Given the description of an element on the screen output the (x, y) to click on. 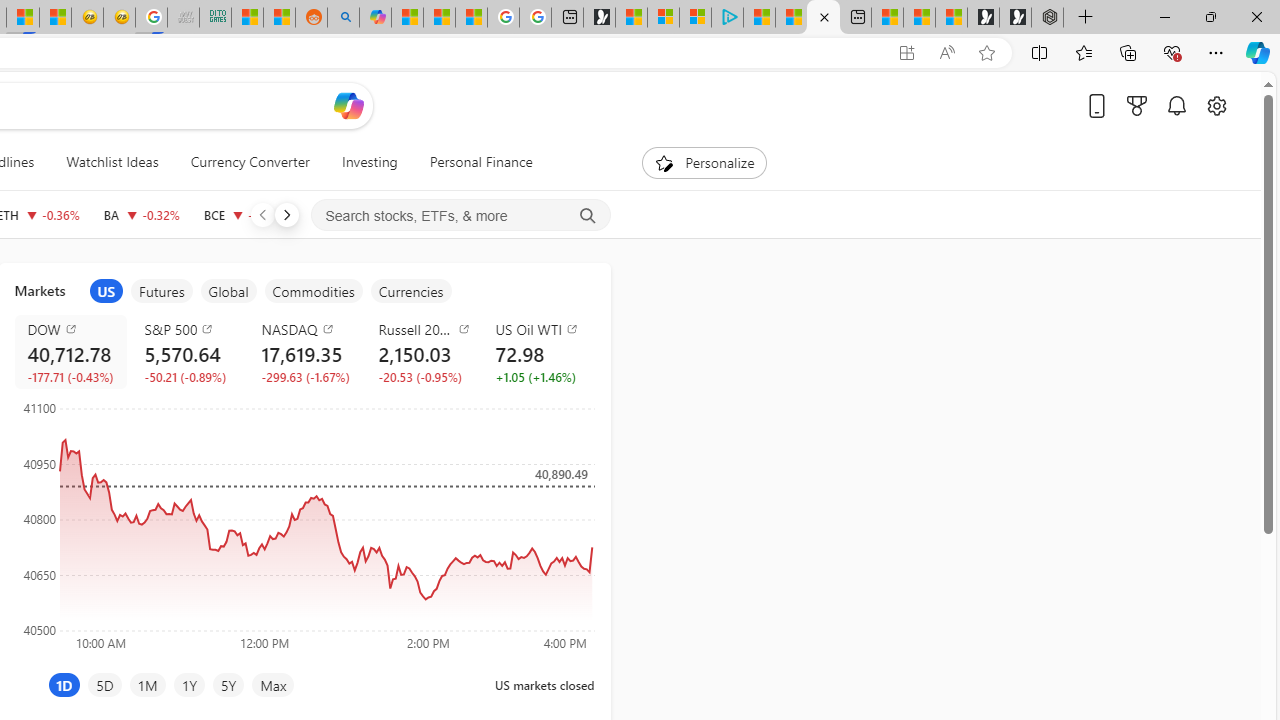
Watchlist Ideas (112, 162)
Watchlist Ideas (112, 162)
S&P 500 INX decrease 5,570.64 -50.21 -0.89% (187, 351)
Open Copilot (347, 105)
Favorites (1083, 52)
Restore (1210, 16)
item1 (106, 291)
5Y (228, 684)
1D (64, 684)
Previous (262, 214)
item4 (313, 291)
Settings and more (Alt+F) (1215, 52)
item3 (228, 291)
5D (104, 684)
Currency Converter (250, 162)
